Given the description of an element on the screen output the (x, y) to click on. 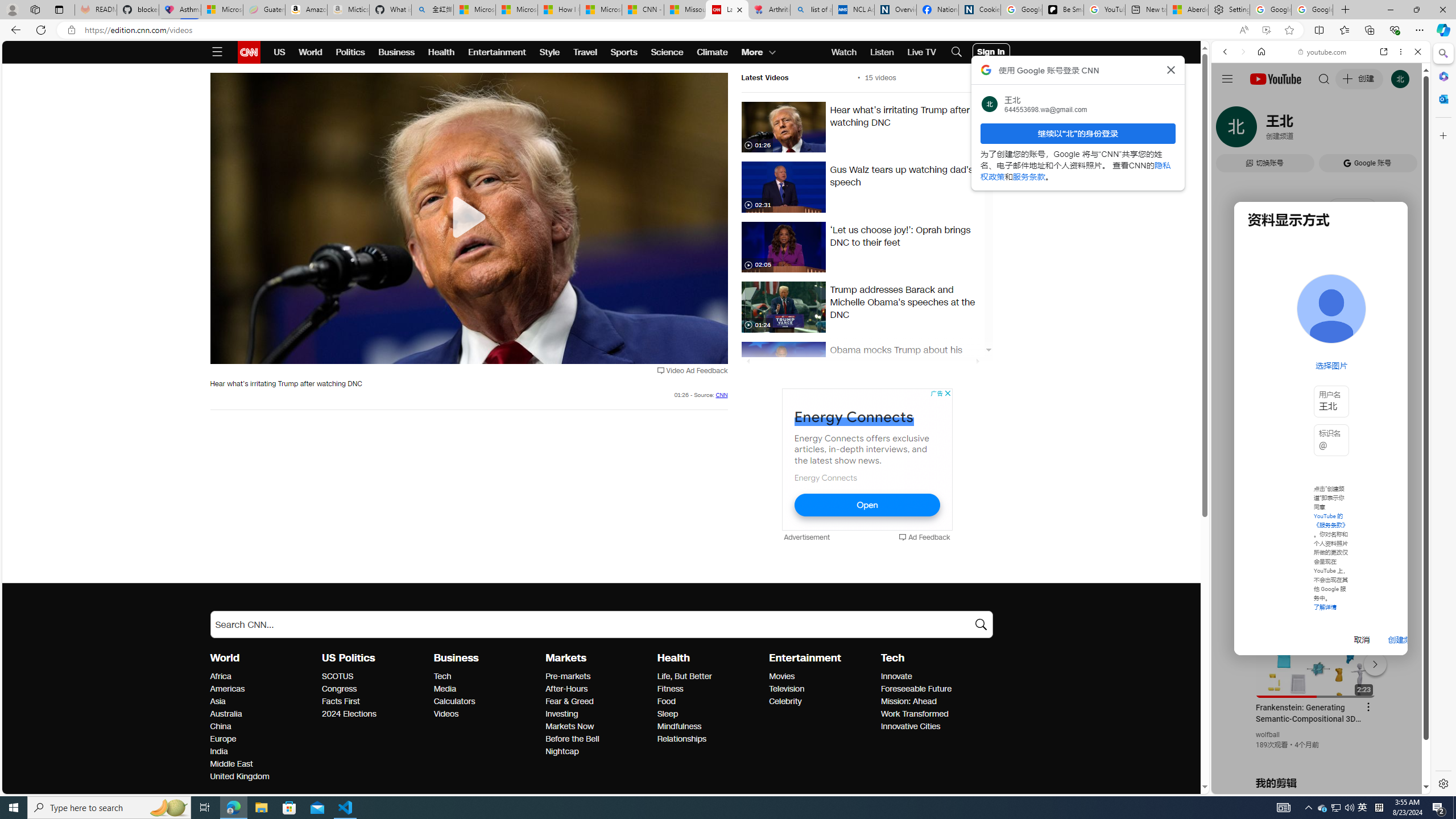
Sleep (709, 714)
Sports (623, 51)
Middle East (262, 764)
Pre-markets (598, 676)
Cookies (979, 9)
Markets Investing (562, 713)
Entertainment Celebrity (785, 701)
Relationships (709, 739)
After-Hours (598, 688)
